Given the description of an element on the screen output the (x, y) to click on. 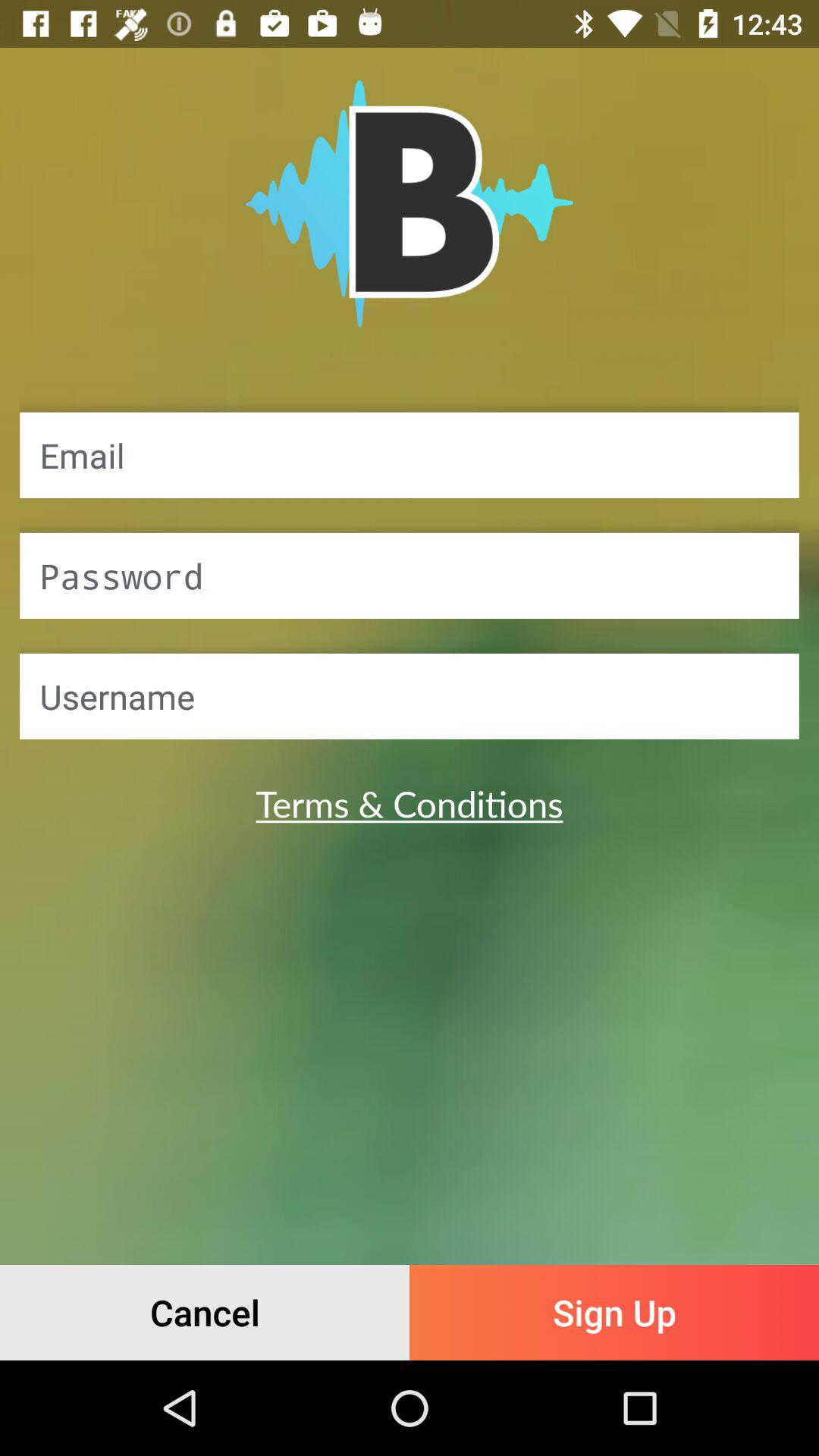
turn off the item at the bottom left corner (204, 1312)
